Given the description of an element on the screen output the (x, y) to click on. 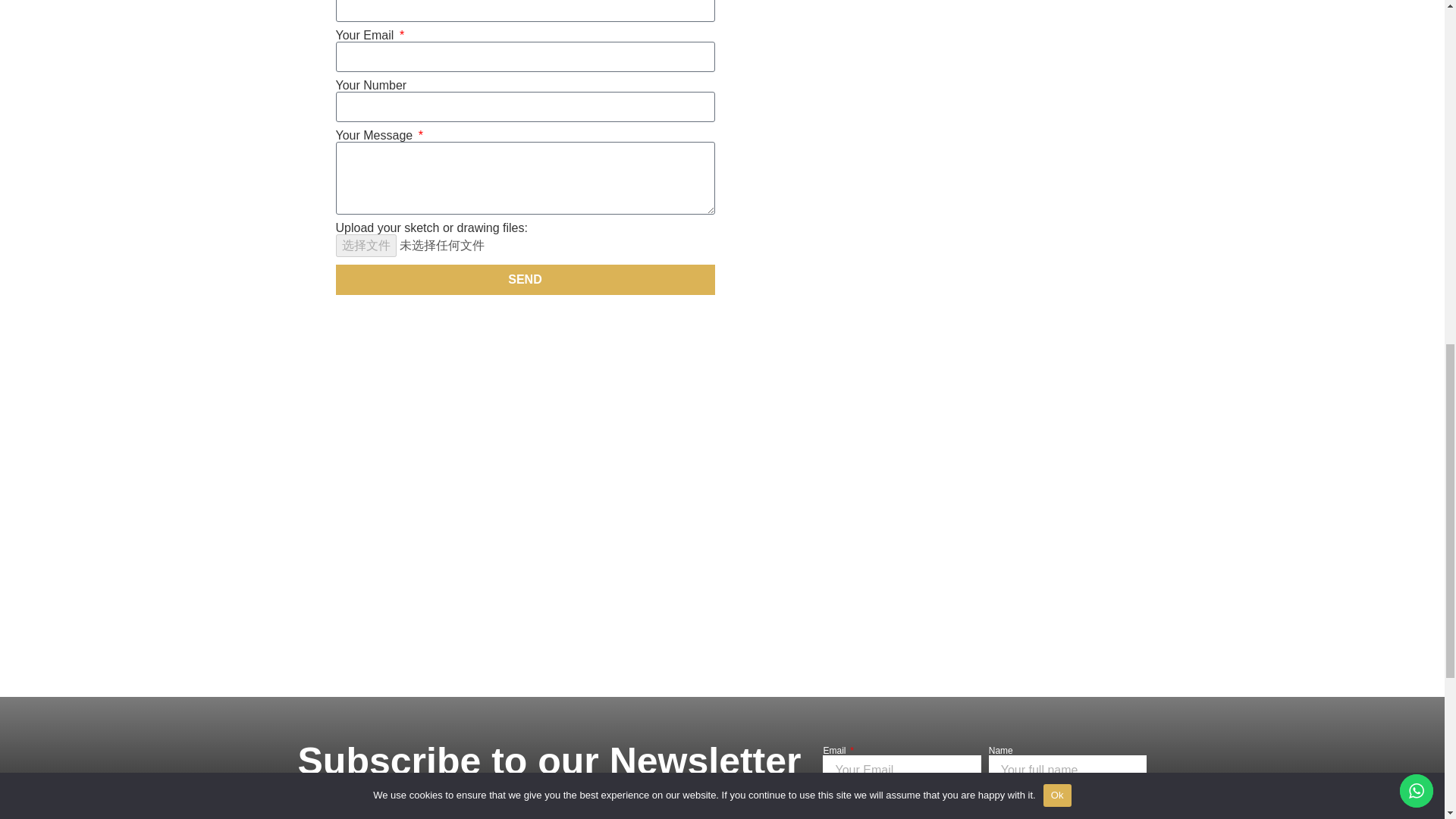
SUBSCRIBE (883, 806)
SEND (524, 279)
